Given the description of an element on the screen output the (x, y) to click on. 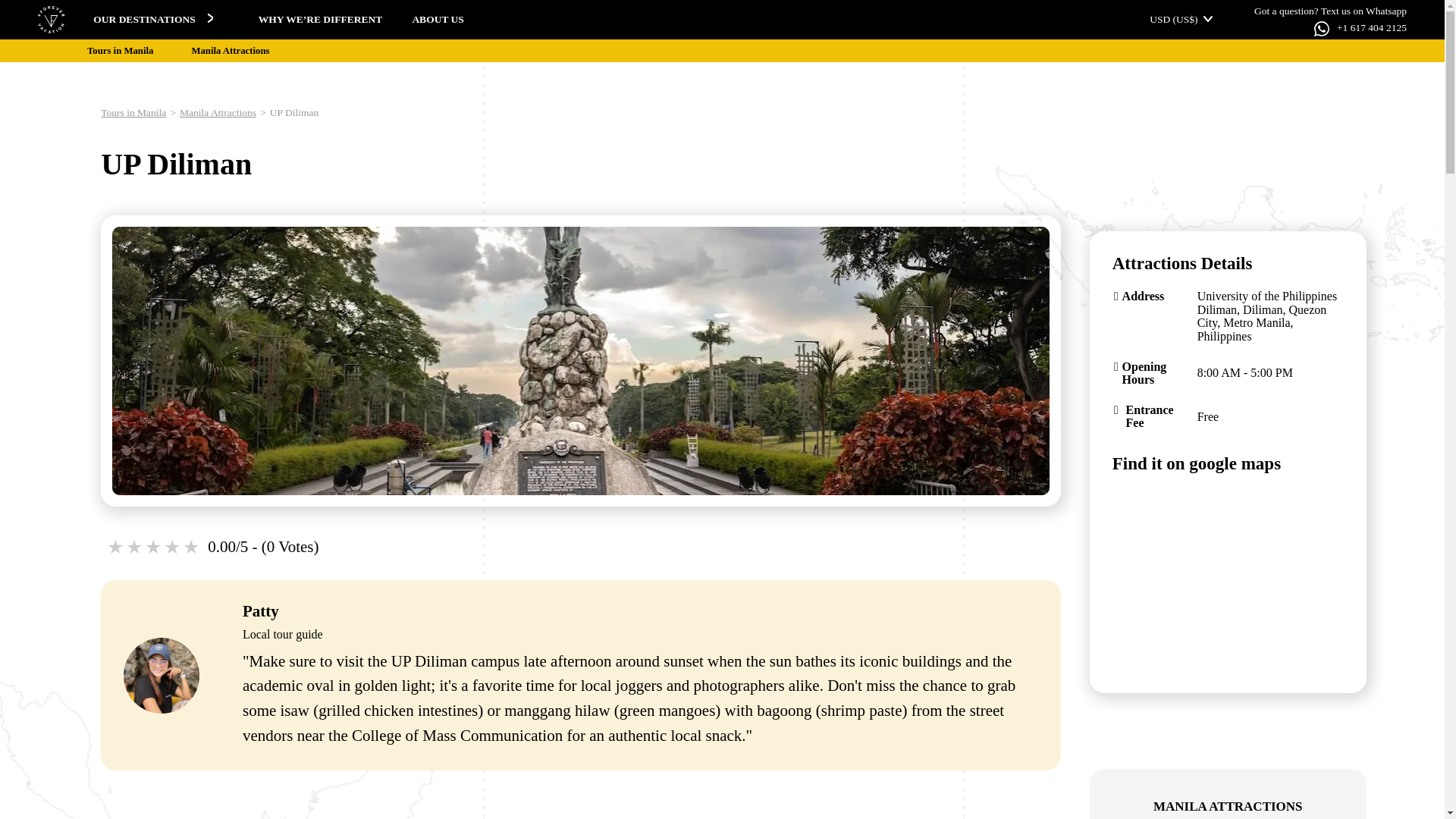
1 stars (115, 547)
4 stars (173, 547)
3 stars (153, 547)
5 stars (192, 547)
2 stars (134, 547)
OUR DESTINATIONS (154, 19)
